Given the description of an element on the screen output the (x, y) to click on. 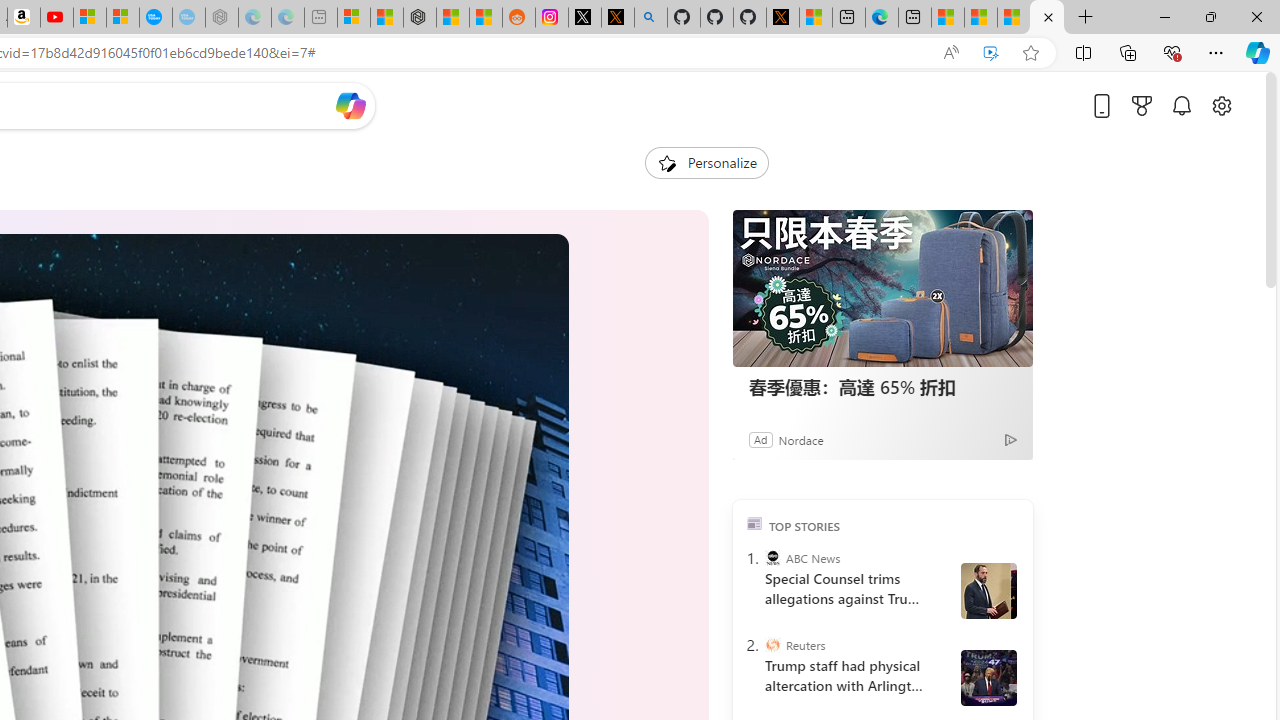
Day 1: Arriving in Yemen (surreal to be here) - YouTube (56, 17)
Shanghai, China Weather trends | Microsoft Weather (485, 17)
Opinion: Op-Ed and Commentary - USA TODAY (155, 17)
Welcome to Microsoft Edge (882, 17)
Microsoft rewards (1142, 105)
To get missing image descriptions, open the context menu. (666, 162)
